Given the description of an element on the screen output the (x, y) to click on. 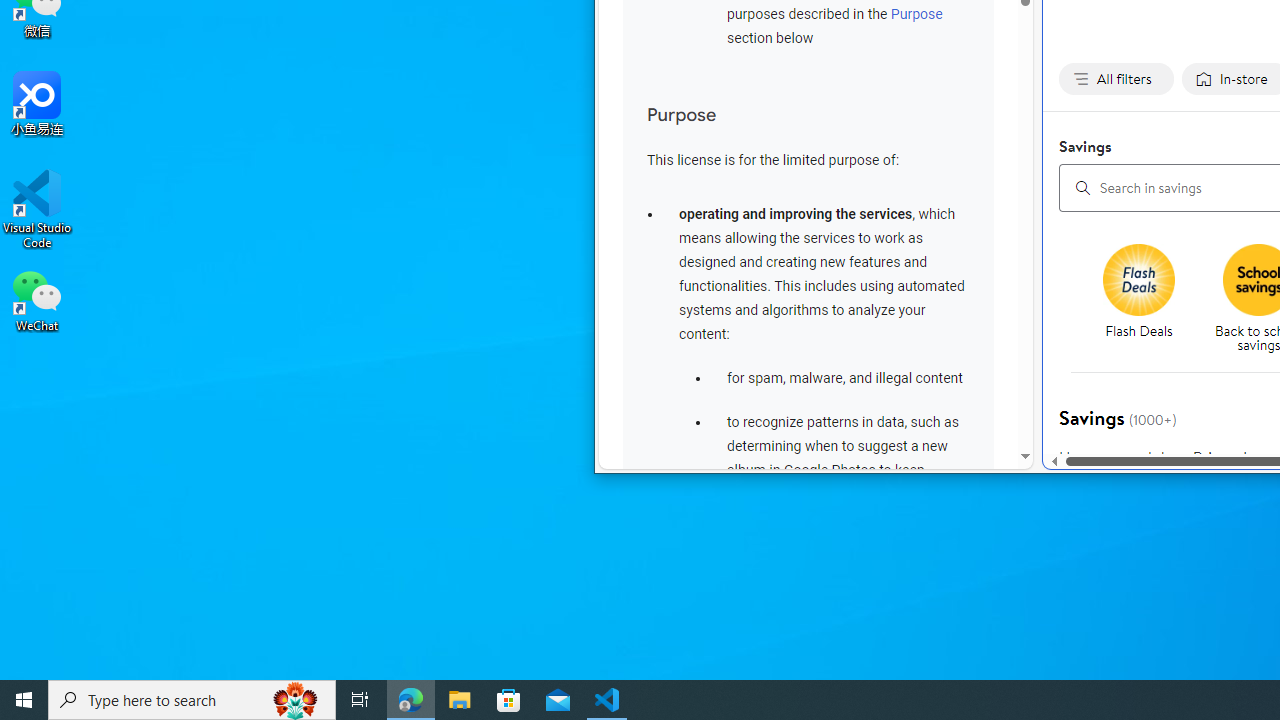
Flash deals Flash Deals (1138, 293)
Flash Deals (1146, 300)
Start (24, 699)
Visual Studio Code - 1 running window (607, 699)
Microsoft Store (509, 699)
WeChat (37, 299)
Type here to search (191, 699)
Flash deals (1139, 280)
Task View (359, 699)
Visual Studio Code (37, 209)
Microsoft Edge - 1 running window (411, 699)
Search highlights icon opens search home window (295, 699)
All filters none applied, activate to change (1115, 79)
File Explorer (460, 699)
